Given the description of an element on the screen output the (x, y) to click on. 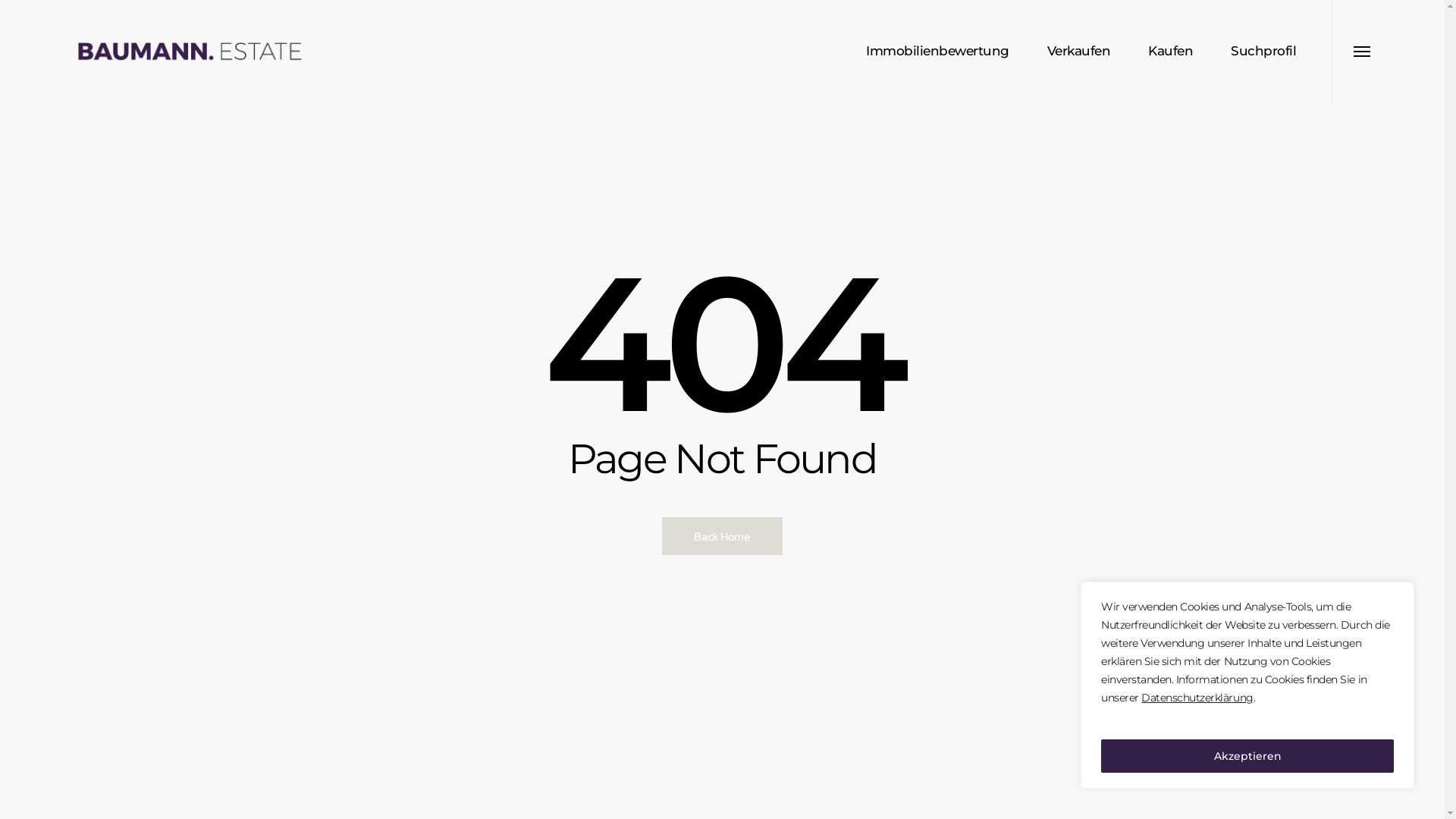
Suchprofil Element type: text (1262, 50)
Kaufen Element type: text (1170, 50)
Back Home Element type: text (721, 536)
Akzeptieren Element type: text (1247, 755)
Menu Element type: text (1362, 51)
Immobilienbewertung Element type: text (937, 50)
Verkaufen Element type: text (1078, 50)
